Given the description of an element on the screen output the (x, y) to click on. 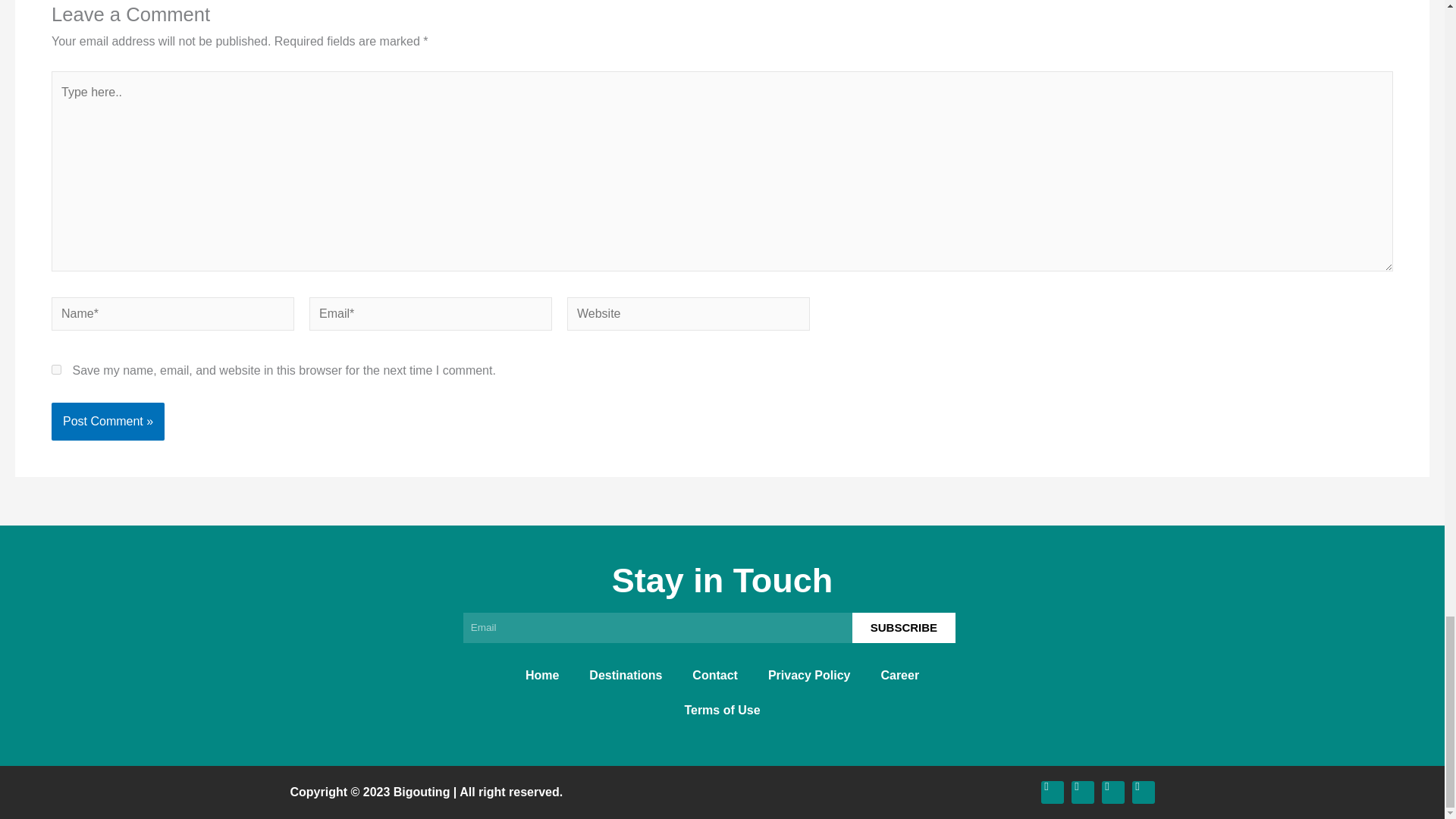
yes (55, 369)
